Given the description of an element on the screen output the (x, y) to click on. 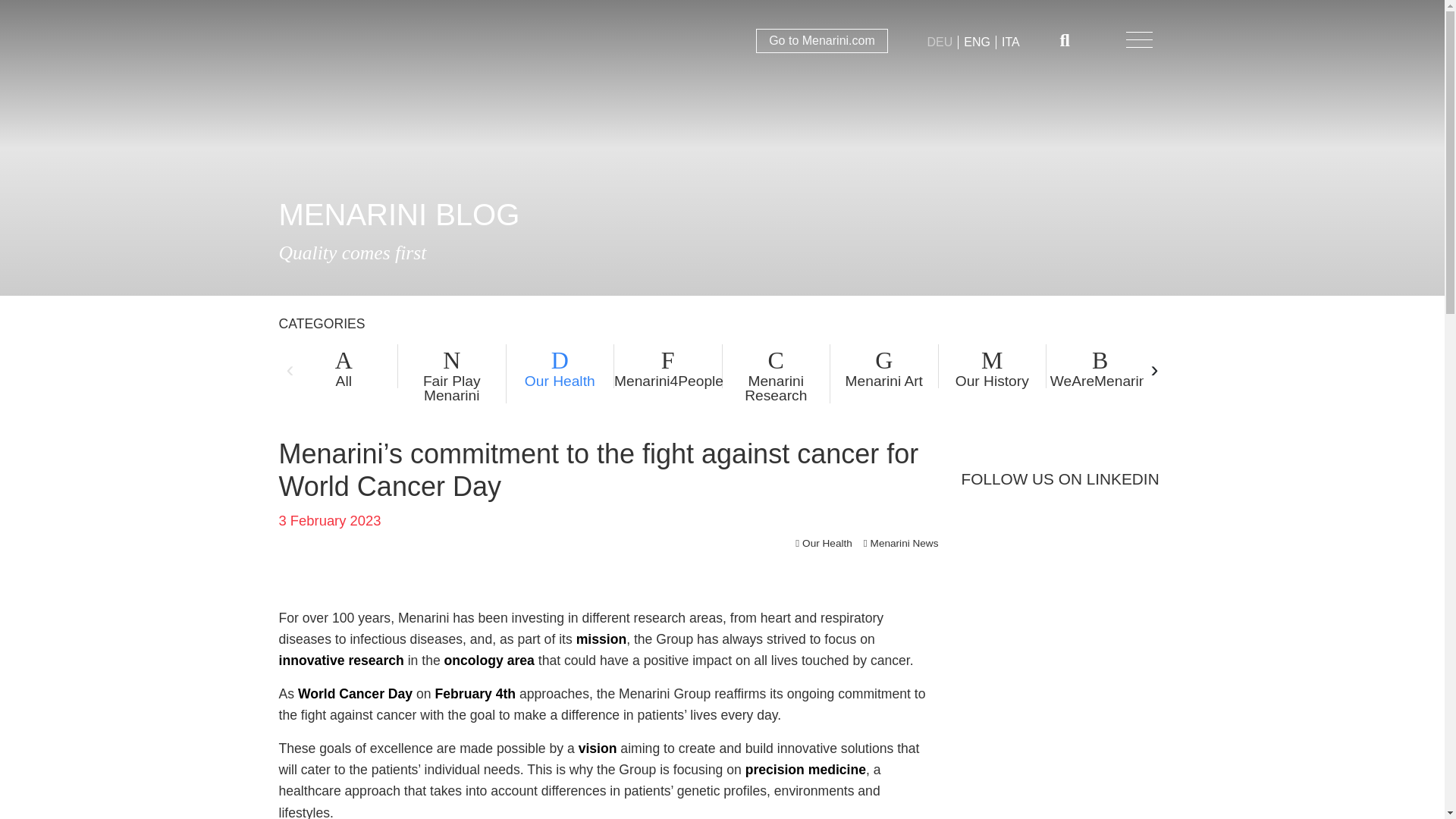
Menu (1139, 39)
Go to Menarini.com (821, 40)
All (343, 365)
ITA (1011, 42)
ENG (976, 42)
DEU (940, 42)
Our History (992, 365)
Menarini Research (775, 372)
Menarini Art (883, 365)
Menarini Blog (336, 40)
